Given the description of an element on the screen output the (x, y) to click on. 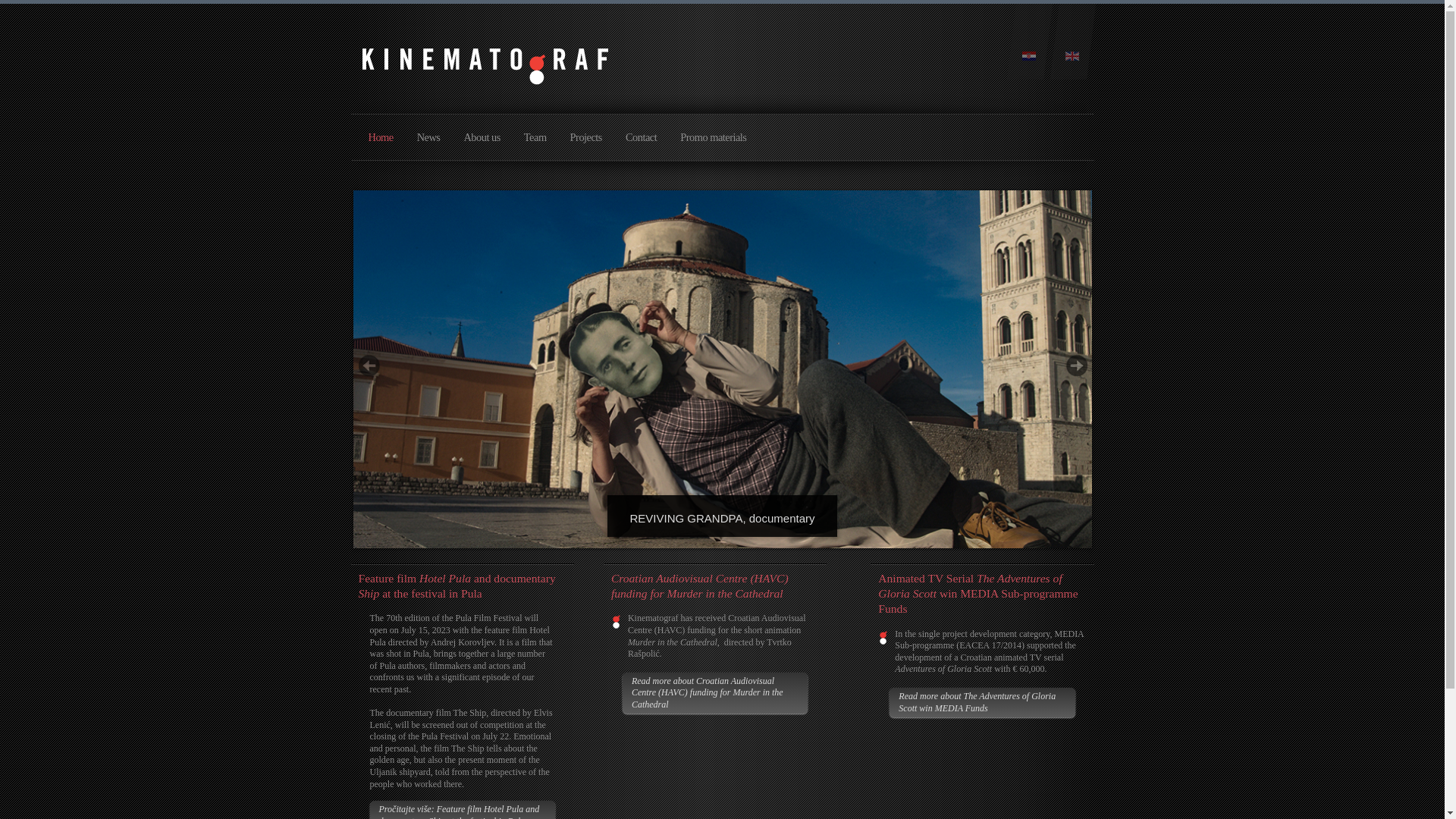
Contact (640, 141)
Hrvatski (1028, 55)
Promo materials (712, 141)
Projects (585, 141)
Home (380, 141)
Team (534, 141)
News (428, 141)
About us (480, 141)
